Given the description of an element on the screen output the (x, y) to click on. 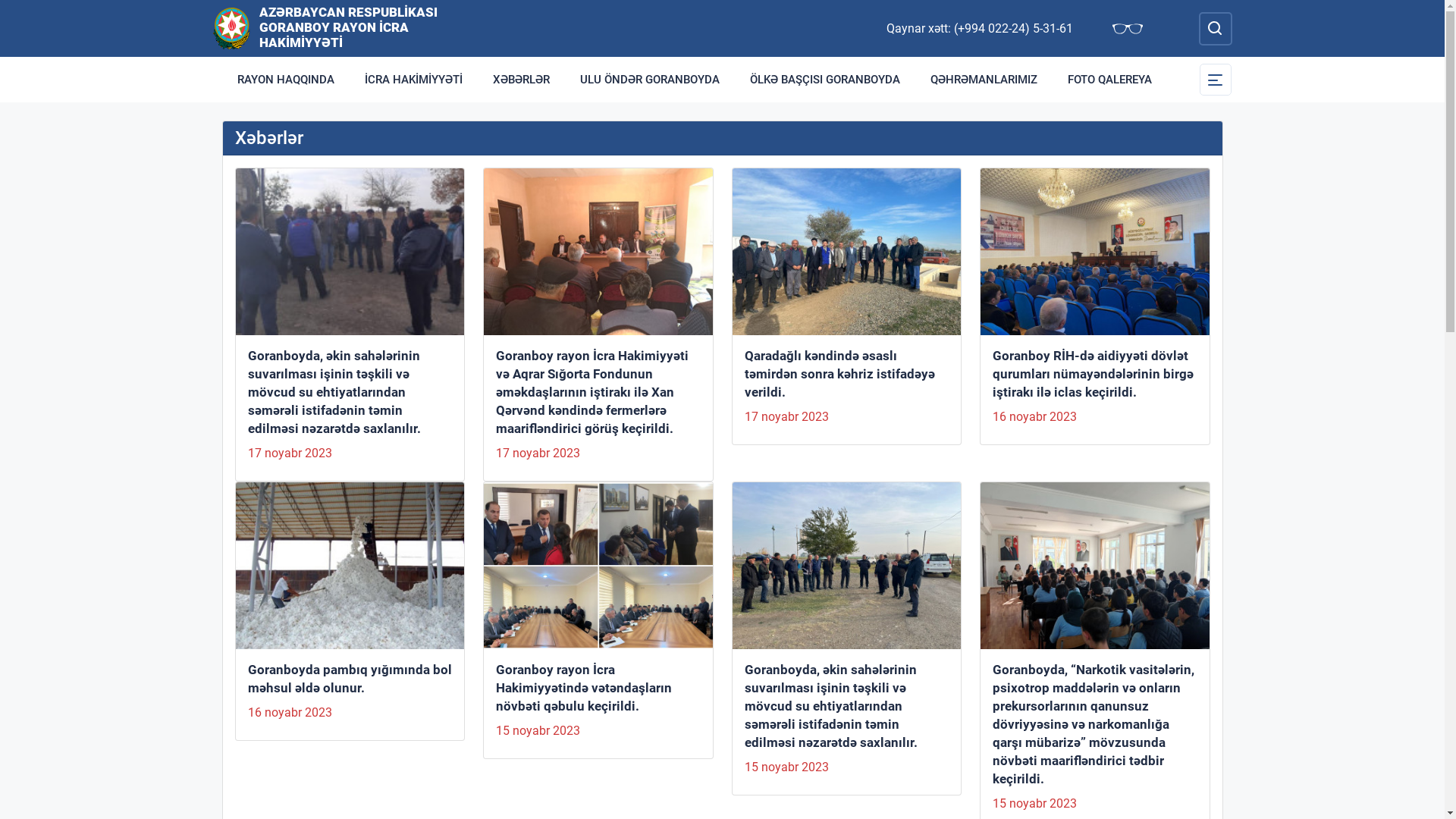
FOTO QALEREYA Element type: text (1109, 79)
RAYON HAQQINDA Element type: text (284, 79)
